Given the description of an element on the screen output the (x, y) to click on. 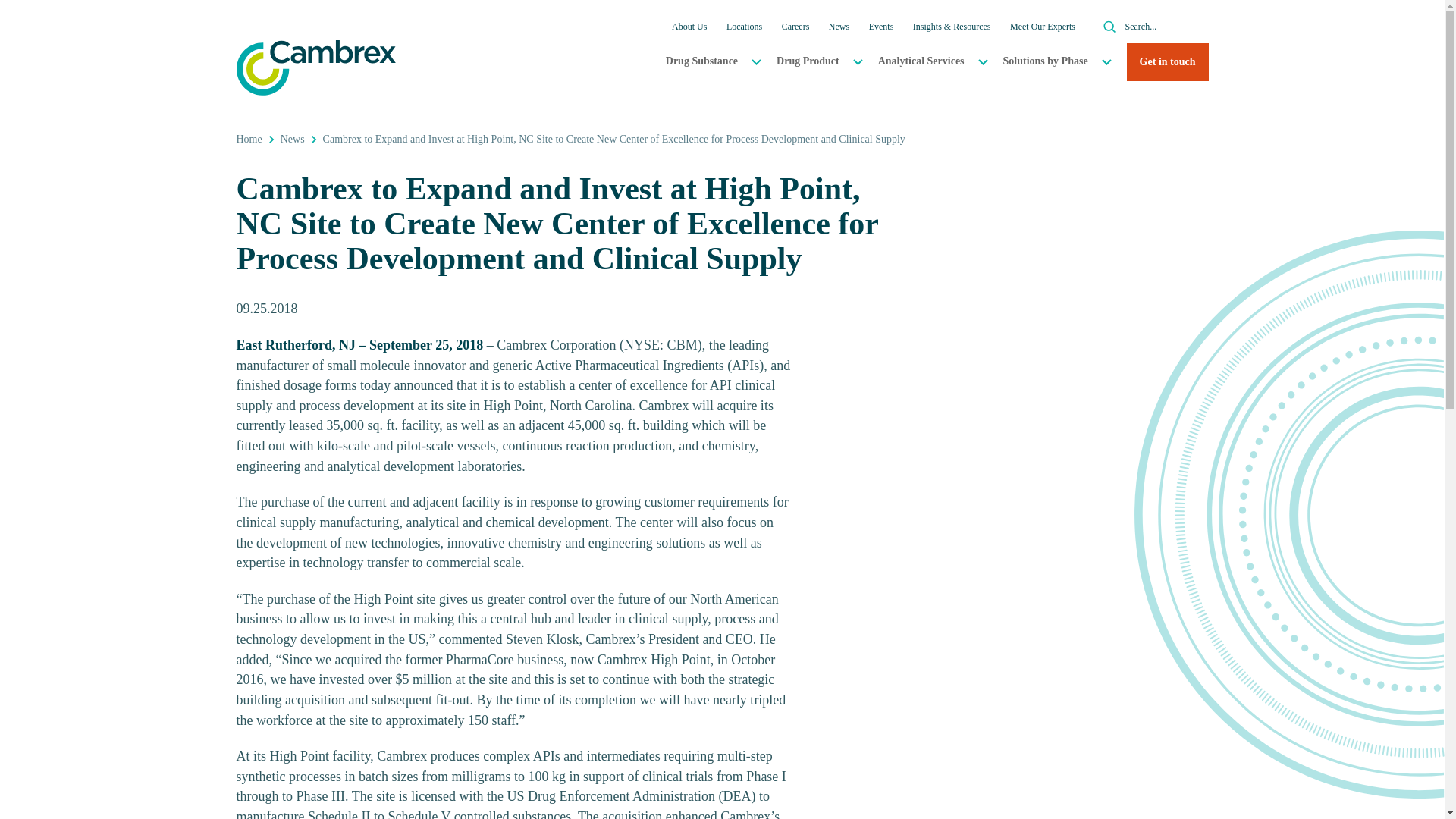
Meet Our Experts (1042, 26)
Locations (743, 26)
Drug Substance (705, 61)
Careers (795, 26)
Events (881, 26)
Home (248, 139)
News (292, 139)
About Us (688, 26)
News (838, 26)
Search (1109, 26)
